Given the description of an element on the screen output the (x, y) to click on. 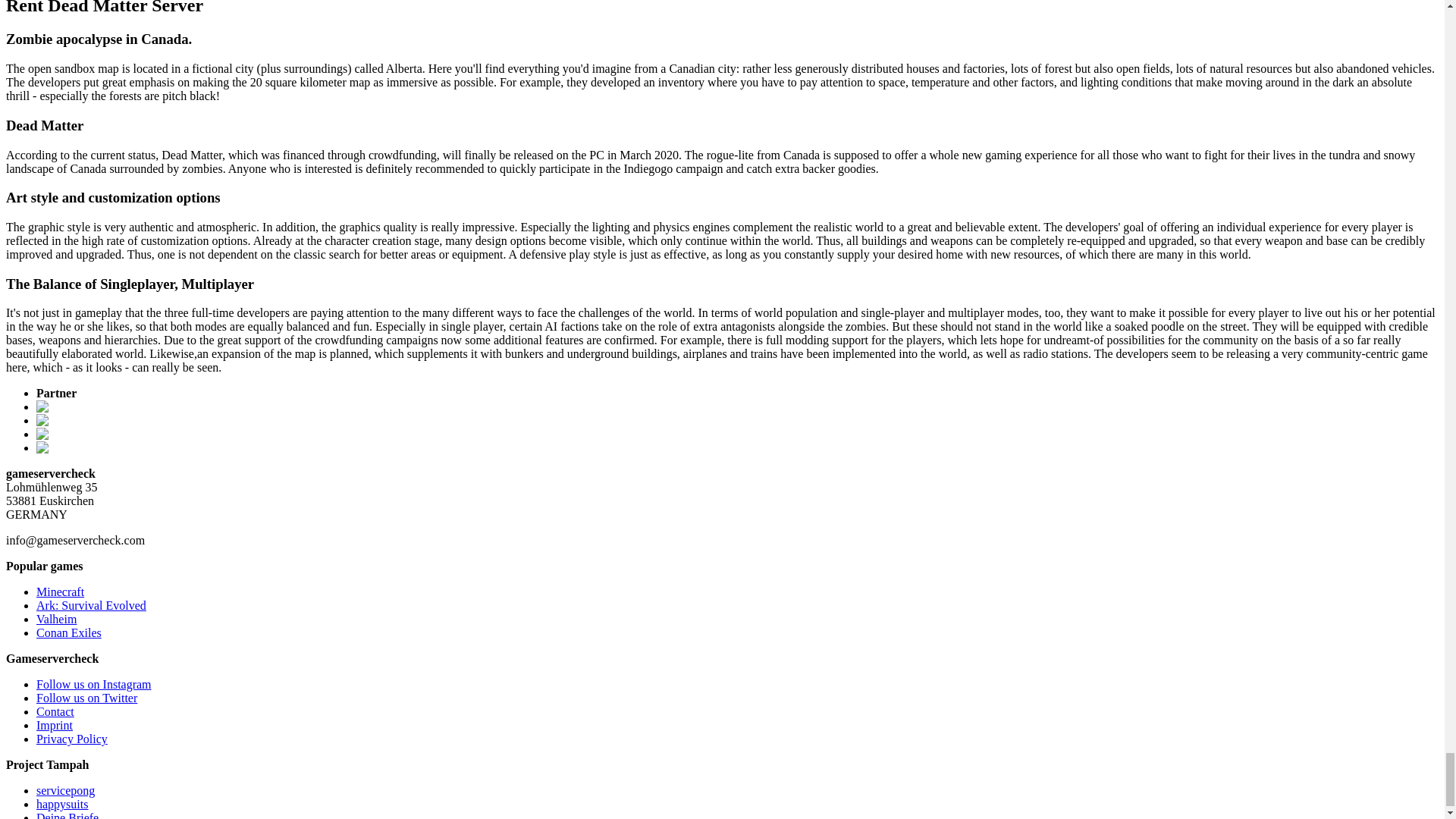
Follow us on Instagram (93, 684)
Ark: Survival Evolved (91, 604)
Imprint (54, 725)
happysuits (61, 803)
Valheim (56, 618)
Privacy Policy (71, 738)
Conan Exiles (68, 632)
Follow us on Twitter (86, 697)
Minecraft (60, 591)
servicepong (65, 789)
Contact (55, 711)
